Given the description of an element on the screen output the (x, y) to click on. 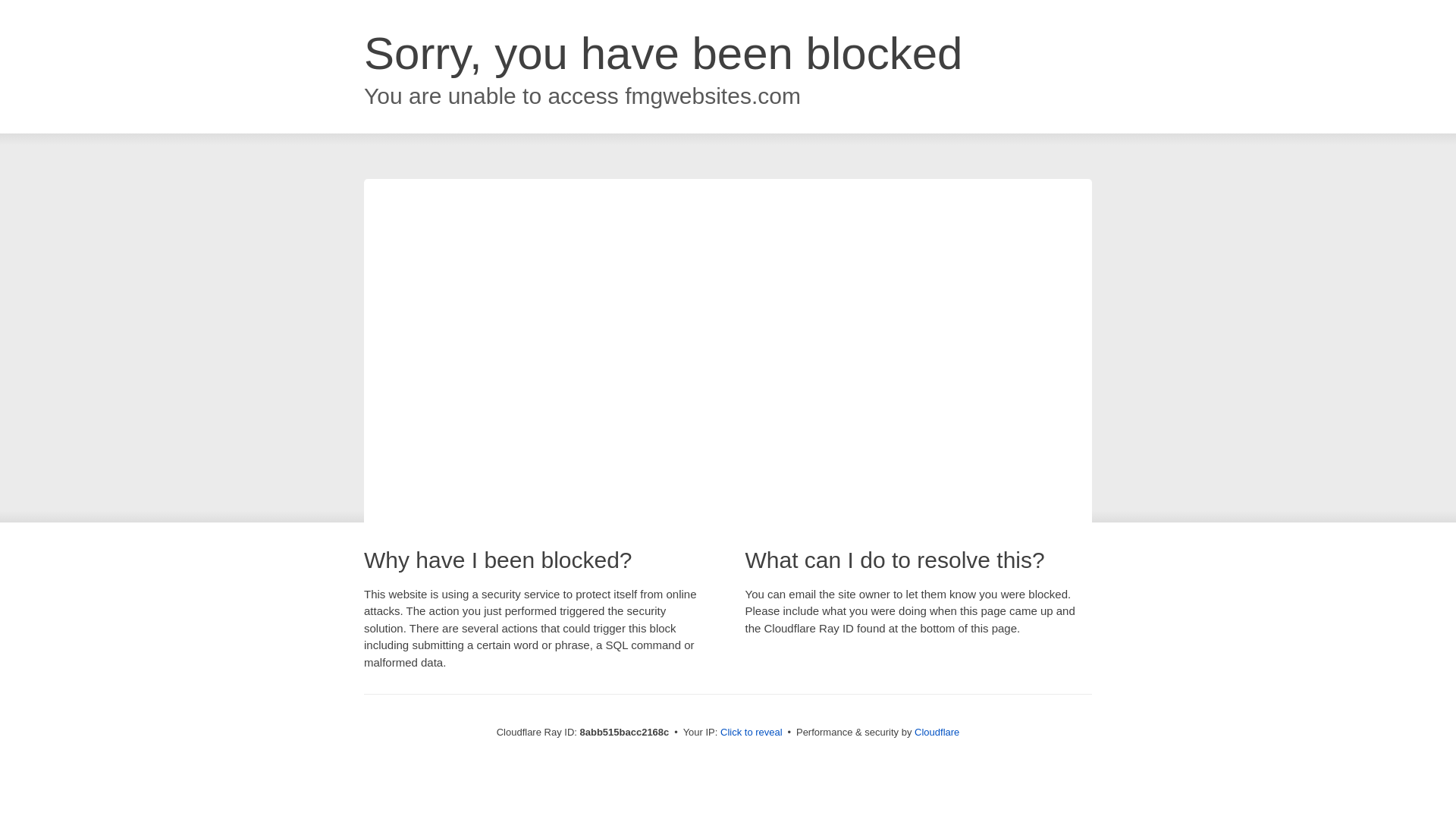
Click to reveal (751, 732)
Cloudflare (936, 731)
